Given the description of an element on the screen output the (x, y) to click on. 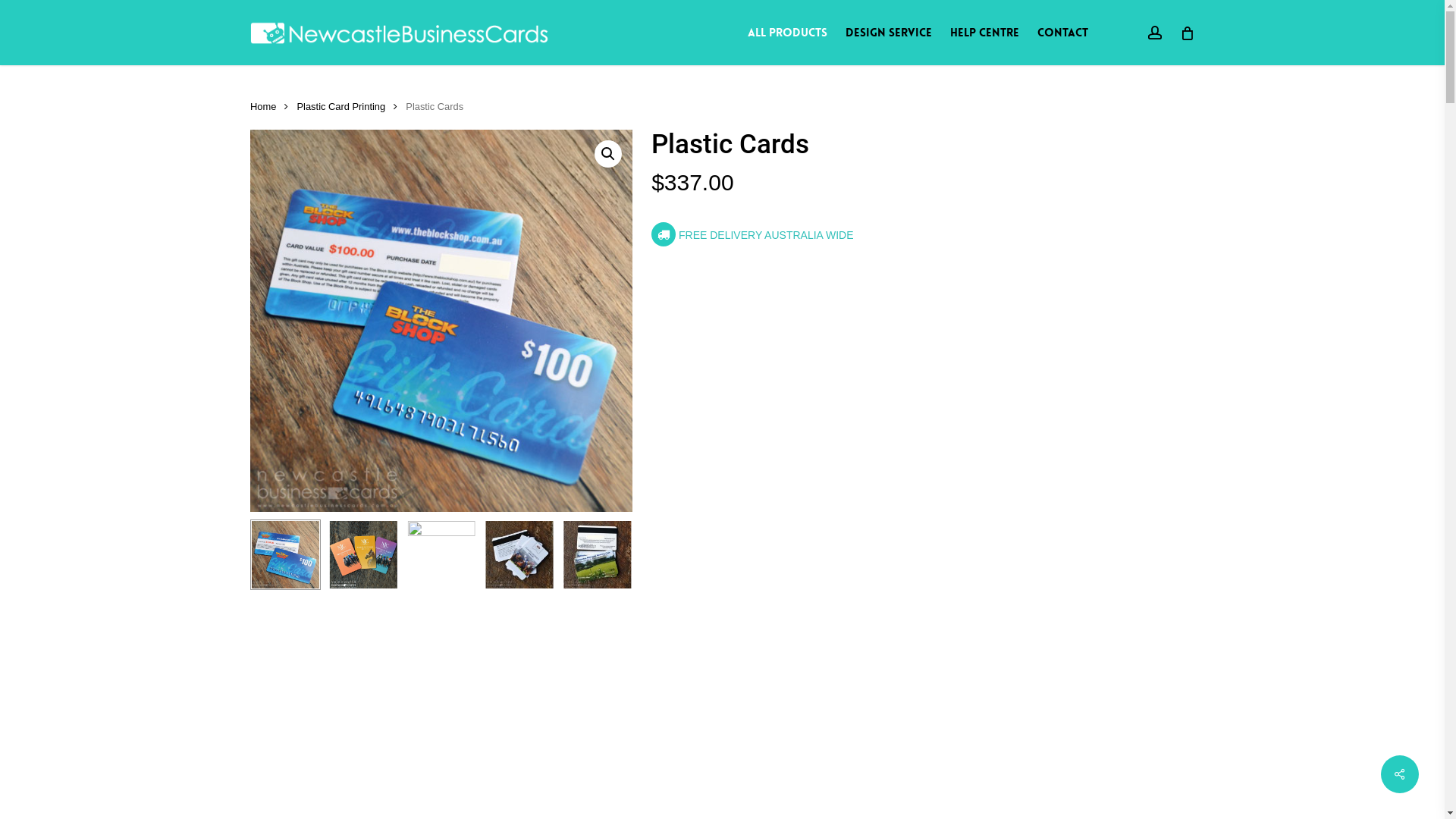
Home Element type: text (263, 106)
account Element type: text (1154, 32)
HELP CENTRE Element type: text (984, 32)
Plastic Card Printing Element type: text (341, 106)
ALL PRODUCTS Element type: text (787, 32)
plastic-card-printing-12 Element type: hover (441, 320)
DESIGN SERVICE Element type: text (888, 32)
CONTACT Element type: text (1062, 32)
